Given the description of an element on the screen output the (x, y) to click on. 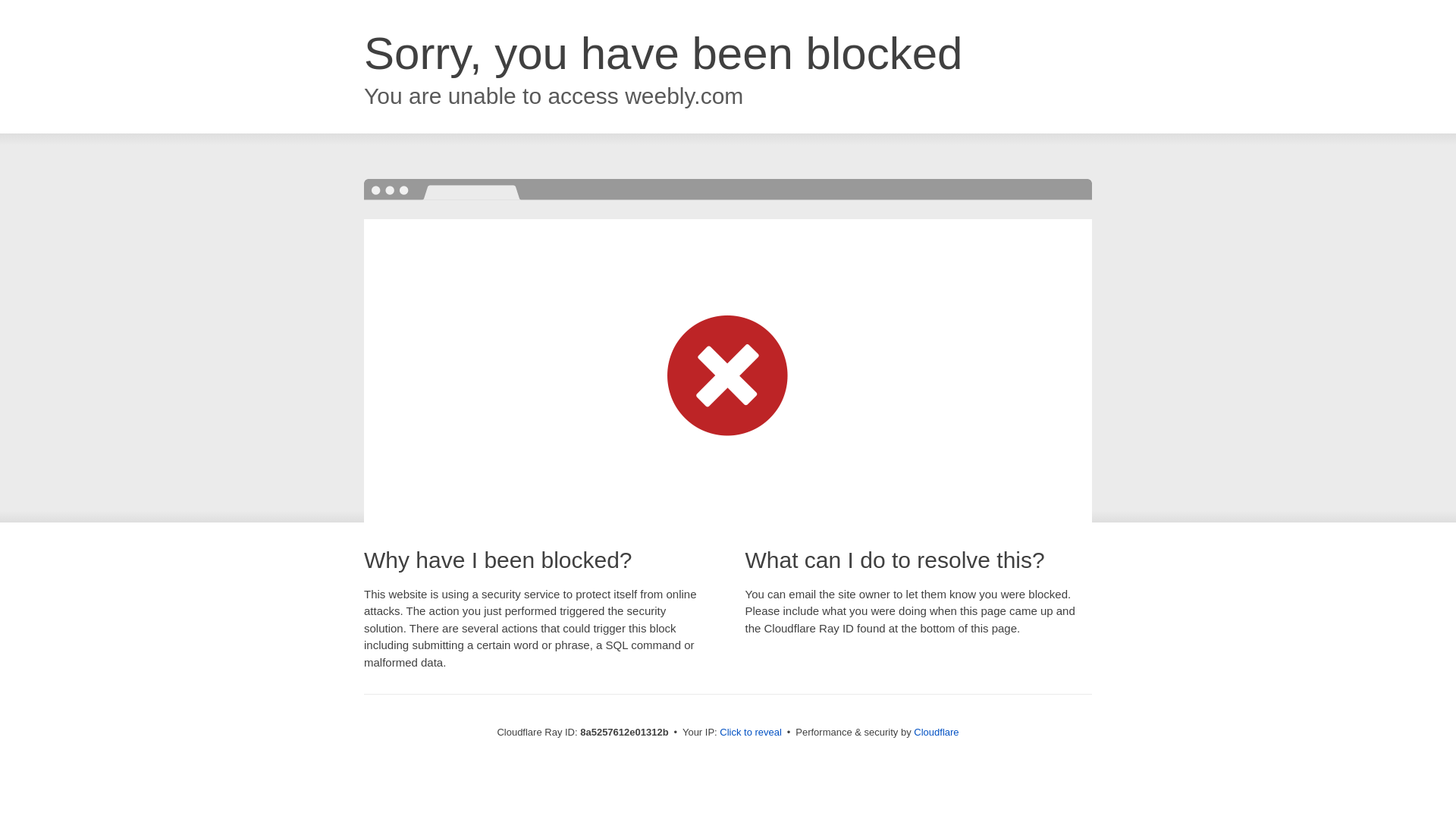
Cloudflare (936, 731)
Click to reveal (750, 732)
